Given the description of an element on the screen output the (x, y) to click on. 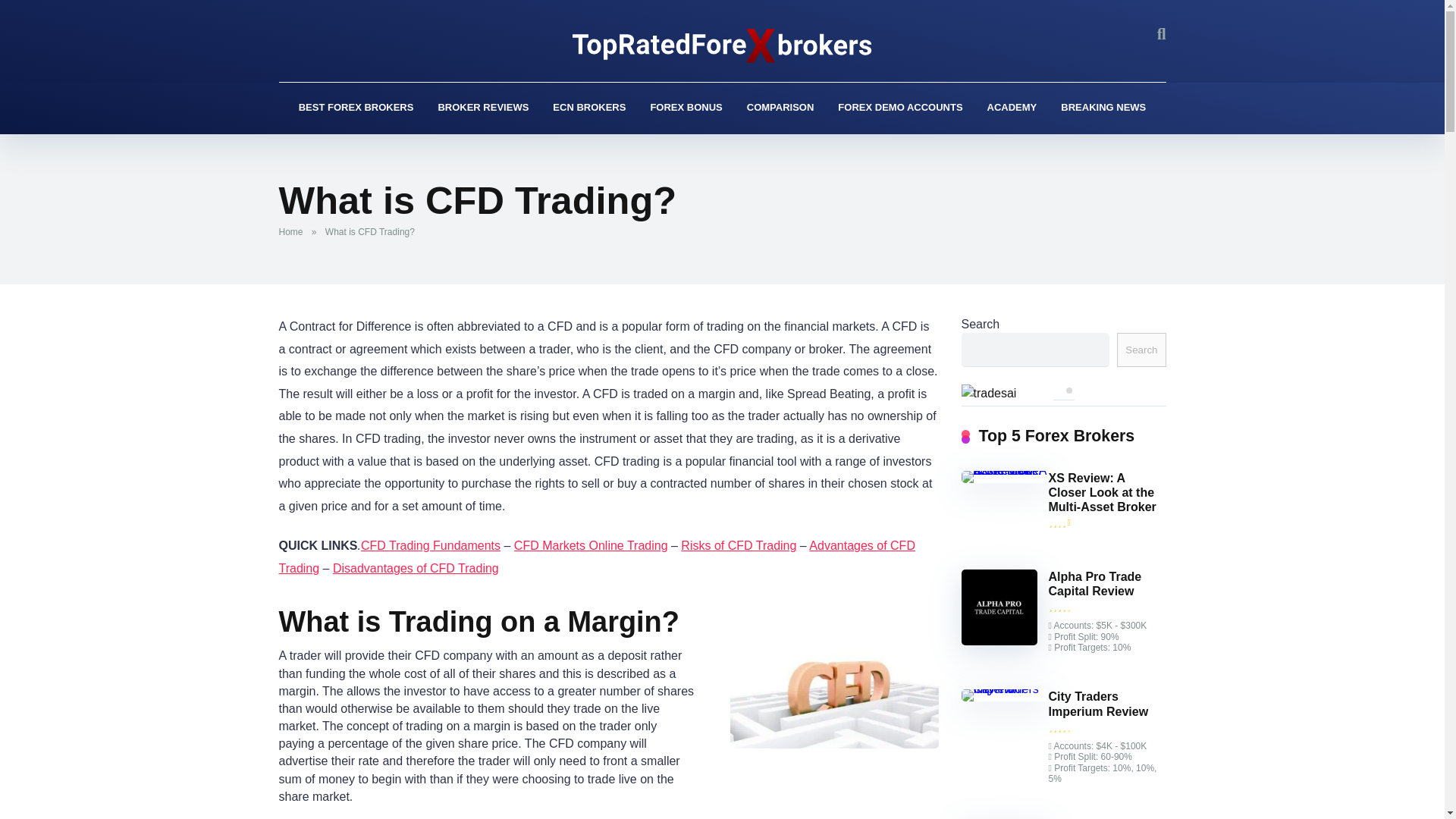
BEST FOREX BROKERS (356, 108)
CFD Markets Online Trading (590, 545)
CFD Trading Fundaments (430, 545)
Disadvantages of CFD Trading (416, 567)
Top Rated Forex Brokers (722, 45)
BREAKING NEWS (1102, 108)
Home (293, 231)
COMPARISON (781, 108)
Risks of CFD Trading (738, 545)
FOREX DEMO ACCOUNTS (899, 108)
Advantages of CFD Trading (597, 556)
ECN BROKERS (588, 108)
ACADEMY (1012, 108)
BROKER REVIEWS (482, 108)
FOREX BONUS (685, 108)
